Given the description of an element on the screen output the (x, y) to click on. 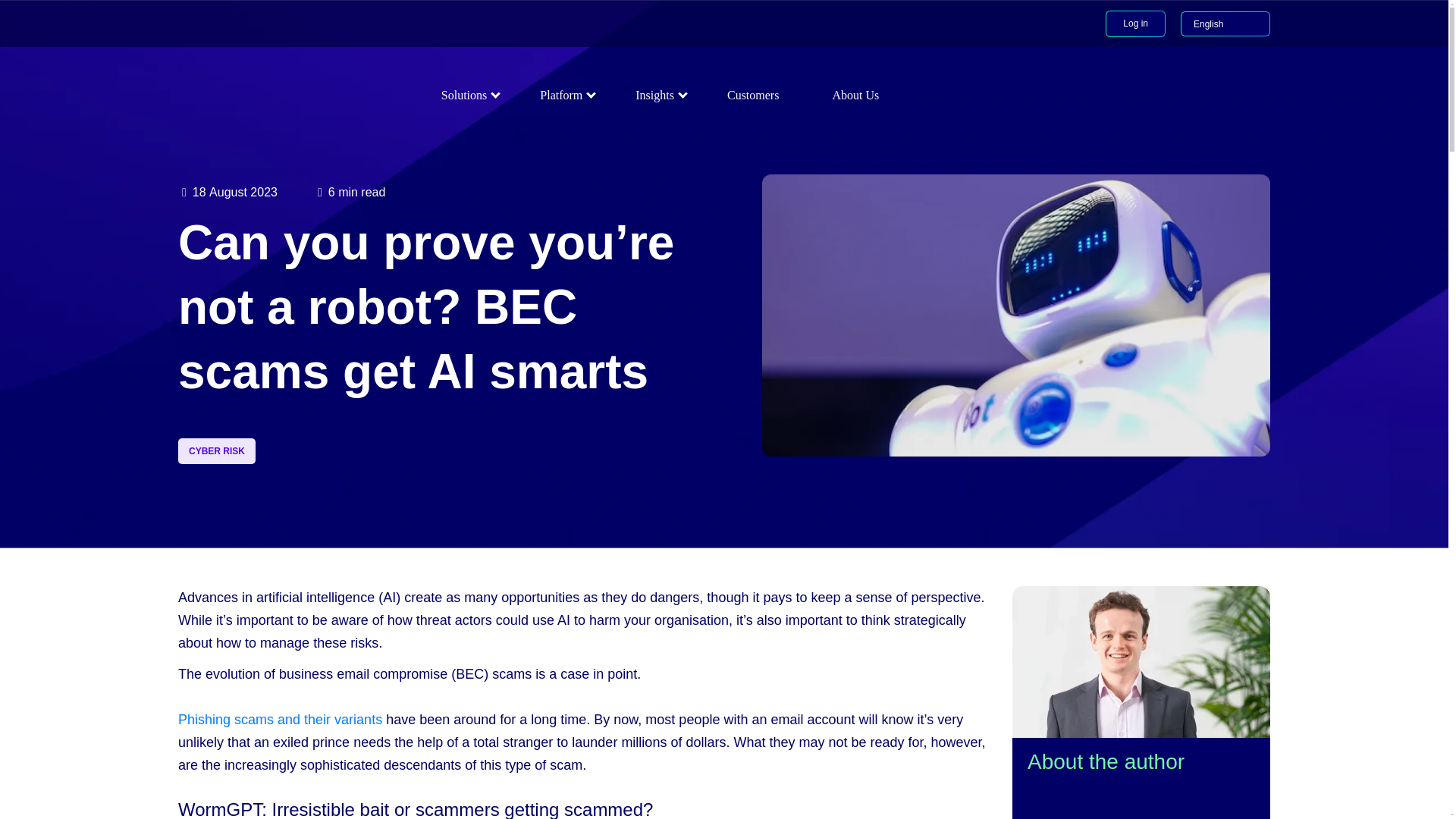
Phishing scams and their variants (279, 719)
Platform (560, 94)
Cyber Risk (216, 451)
CYBER RISK (216, 451)
Customers (753, 94)
Log in (1135, 23)
Insights (654, 94)
Solutions (464, 94)
About Us (855, 94)
